Given the description of an element on the screen output the (x, y) to click on. 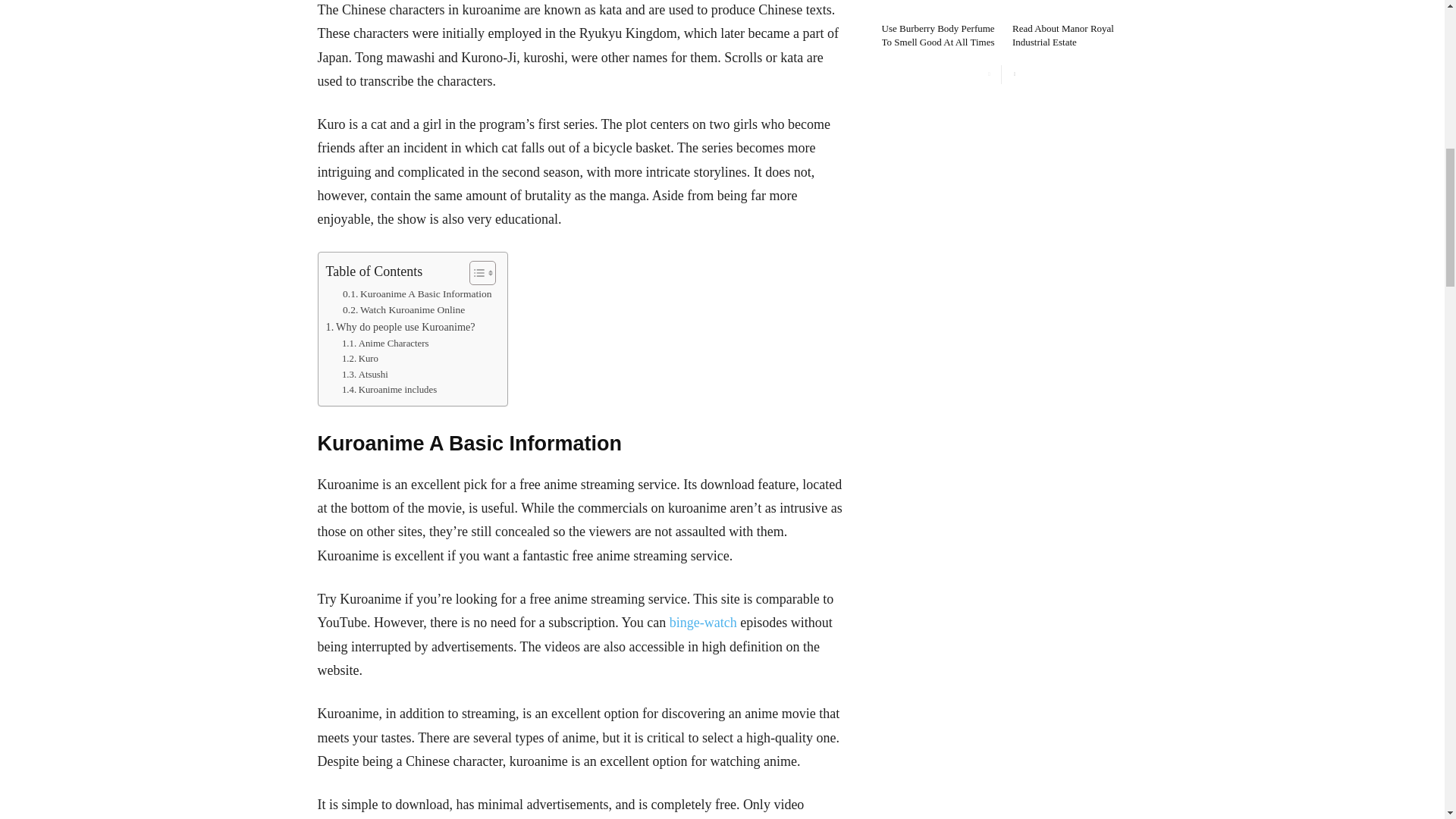
Watch Kuroanime Online (403, 310)
Kuroanime A Basic Information (417, 293)
Why do people use Kuroanime? (401, 326)
Anime Characters (385, 343)
Kuro (360, 358)
